Given the description of an element on the screen output the (x, y) to click on. 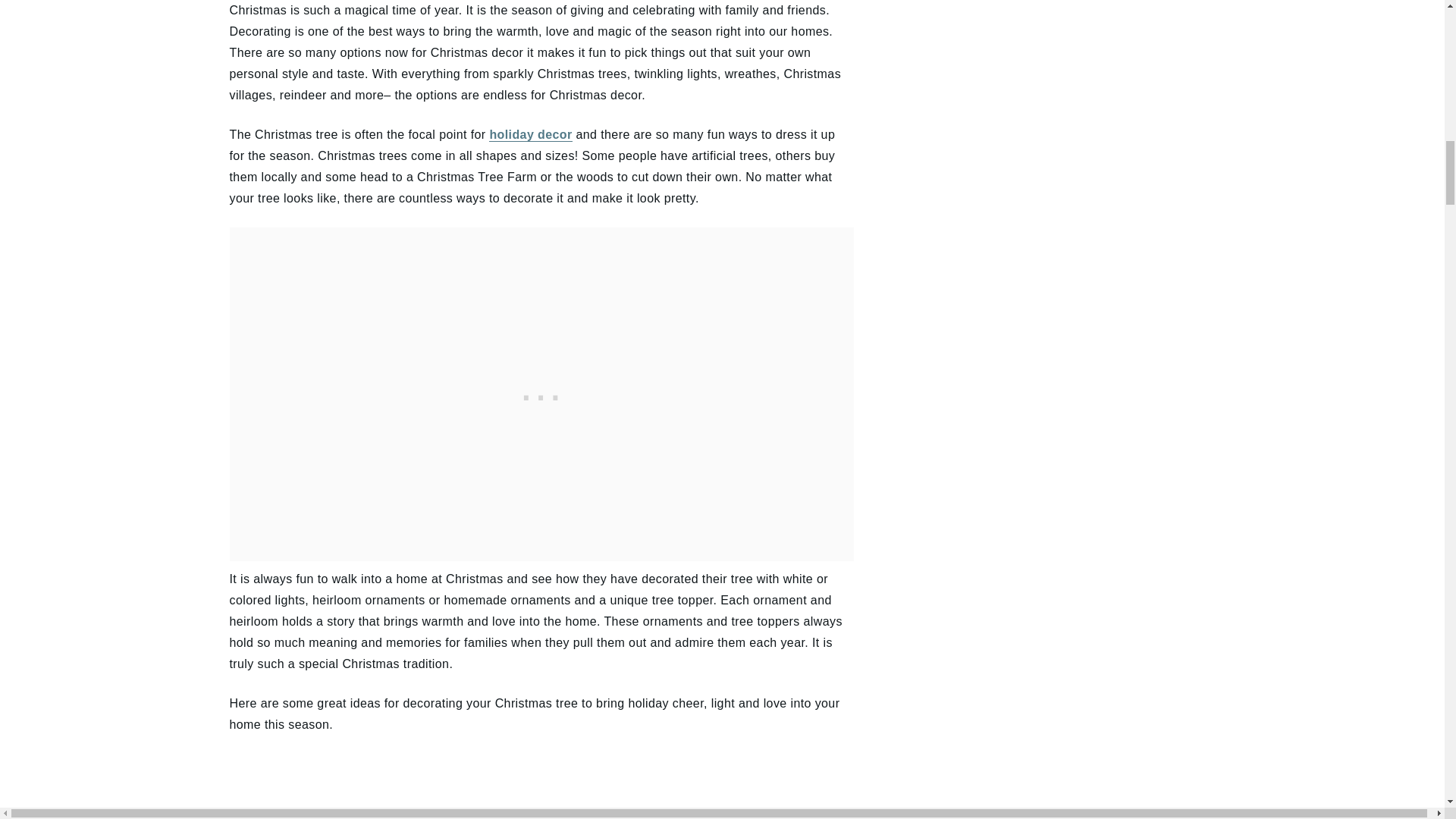
holiday decor (530, 134)
Christmas Tree Decor Ideas (383, 786)
Christmas Tree Decorating (698, 786)
